Given the description of an element on the screen output the (x, y) to click on. 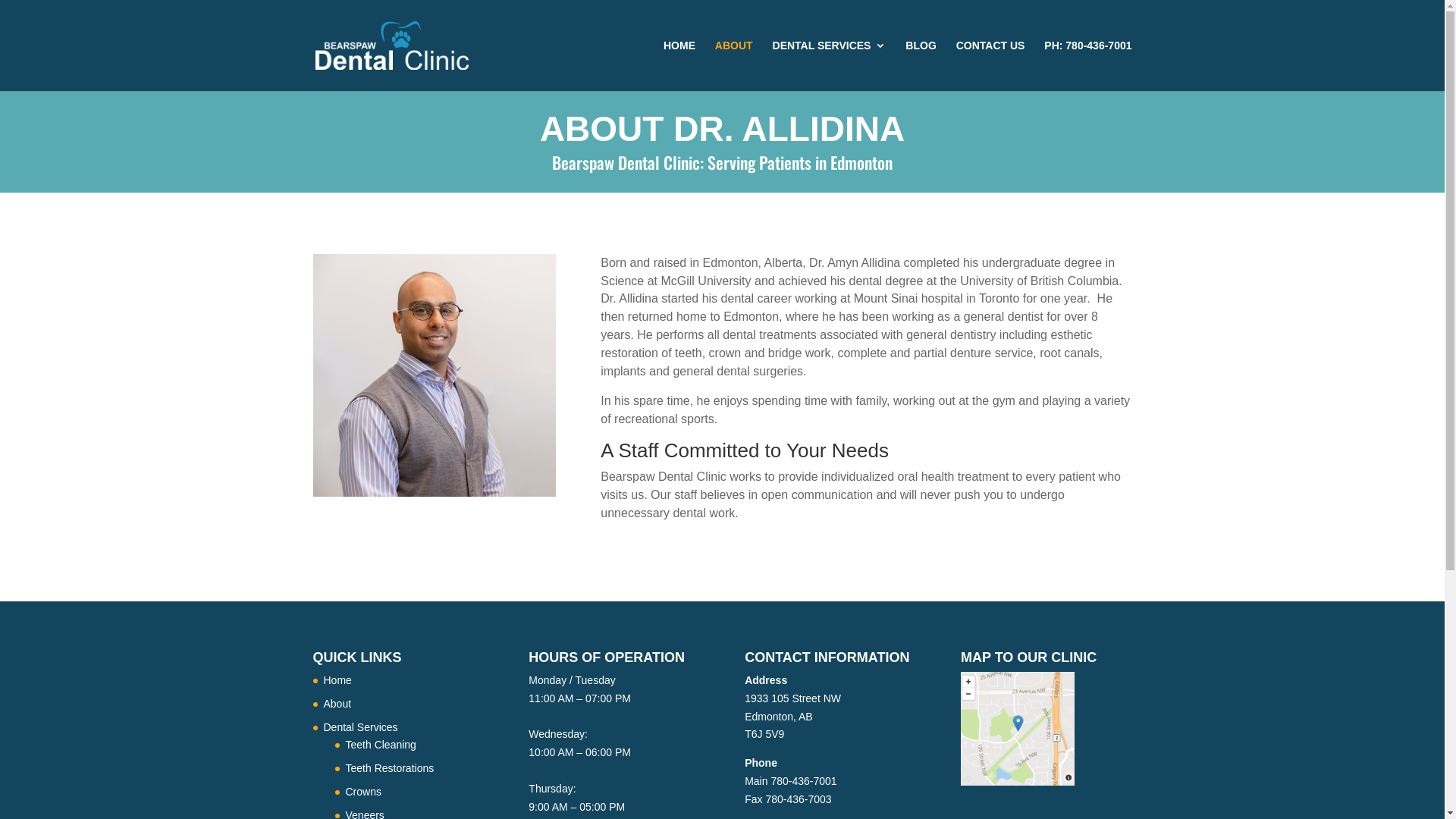
ABOUT Element type: text (734, 65)
HOME Element type: text (679, 65)
Dental Services Element type: text (360, 727)
About Element type: text (337, 703)
Crowns Element type: text (363, 791)
Teeth Cleaning Element type: text (380, 744)
Teeth Restorations Element type: text (389, 768)
CONTACT US Element type: text (990, 65)
BLOG Element type: text (920, 65)
DENTAL SERVICES Element type: text (829, 65)
Home Element type: text (337, 680)
